Given the description of an element on the screen output the (x, y) to click on. 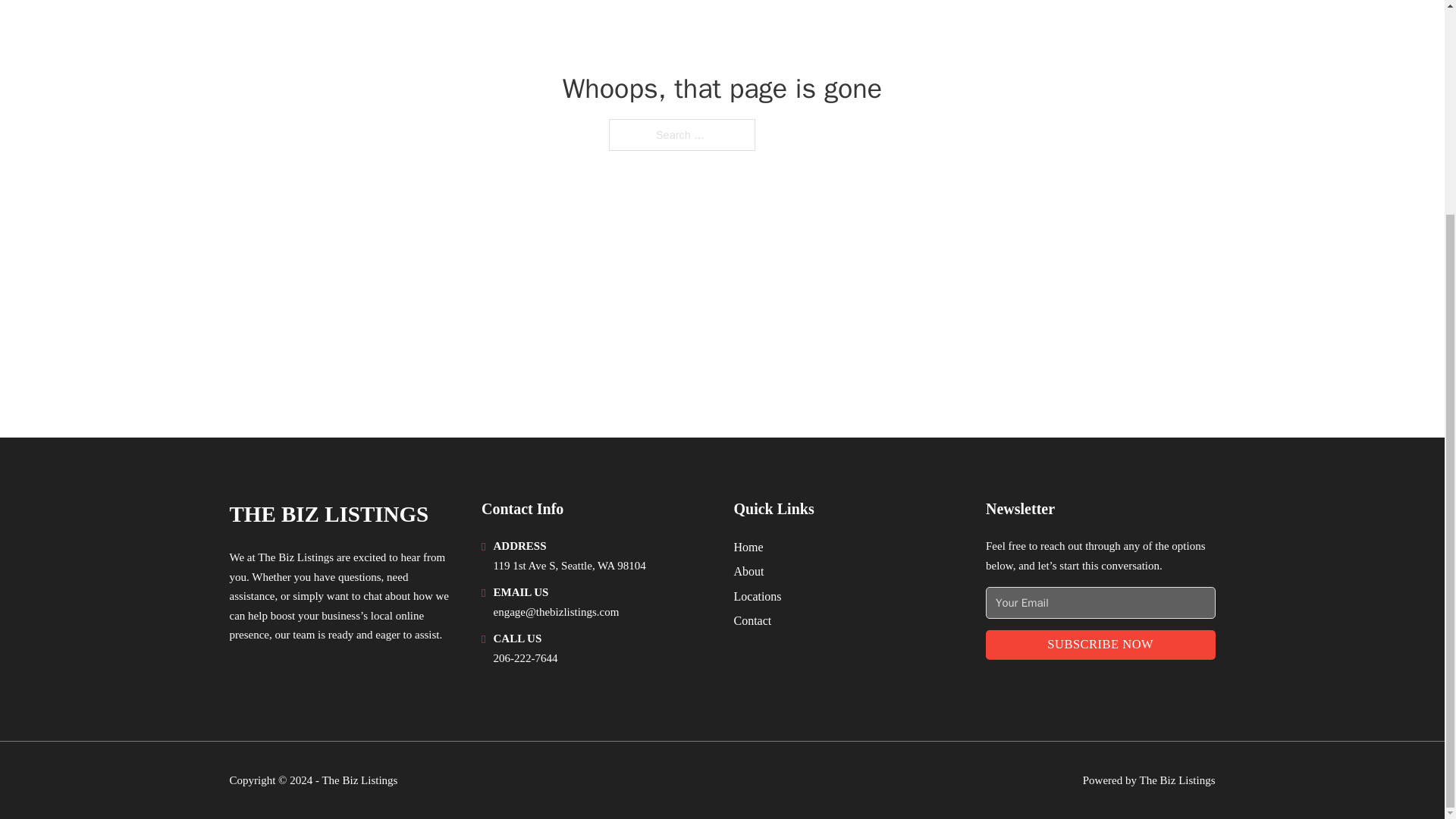
SUBSCRIBE NOW (1100, 644)
About (748, 571)
206-222-7644 (525, 657)
Locations (757, 596)
THE BIZ LISTINGS (328, 514)
Home (747, 547)
Contact (752, 620)
